Given the description of an element on the screen output the (x, y) to click on. 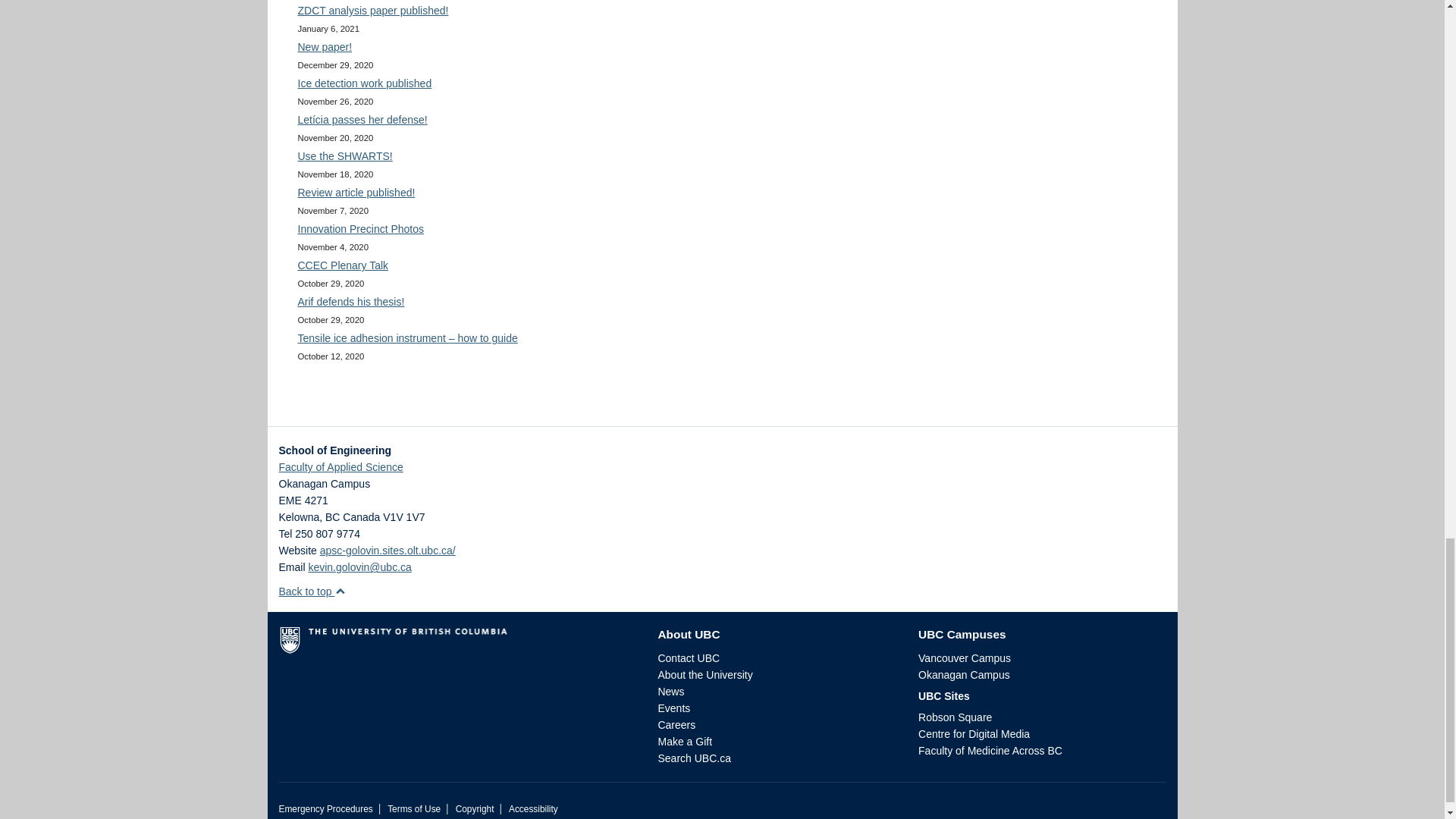
New paper! (324, 46)
Accessibility (532, 808)
Faculty of Applied Science (341, 467)
ZDCT analysis paper published! (372, 10)
Terms of Use (414, 808)
UBC Copyright (475, 808)
Emergency Procedures (325, 808)
Use the SHWARTS! (344, 155)
Innovation Precinct Photos (360, 228)
Arif defends his thesis! (350, 301)
